Given the description of an element on the screen output the (x, y) to click on. 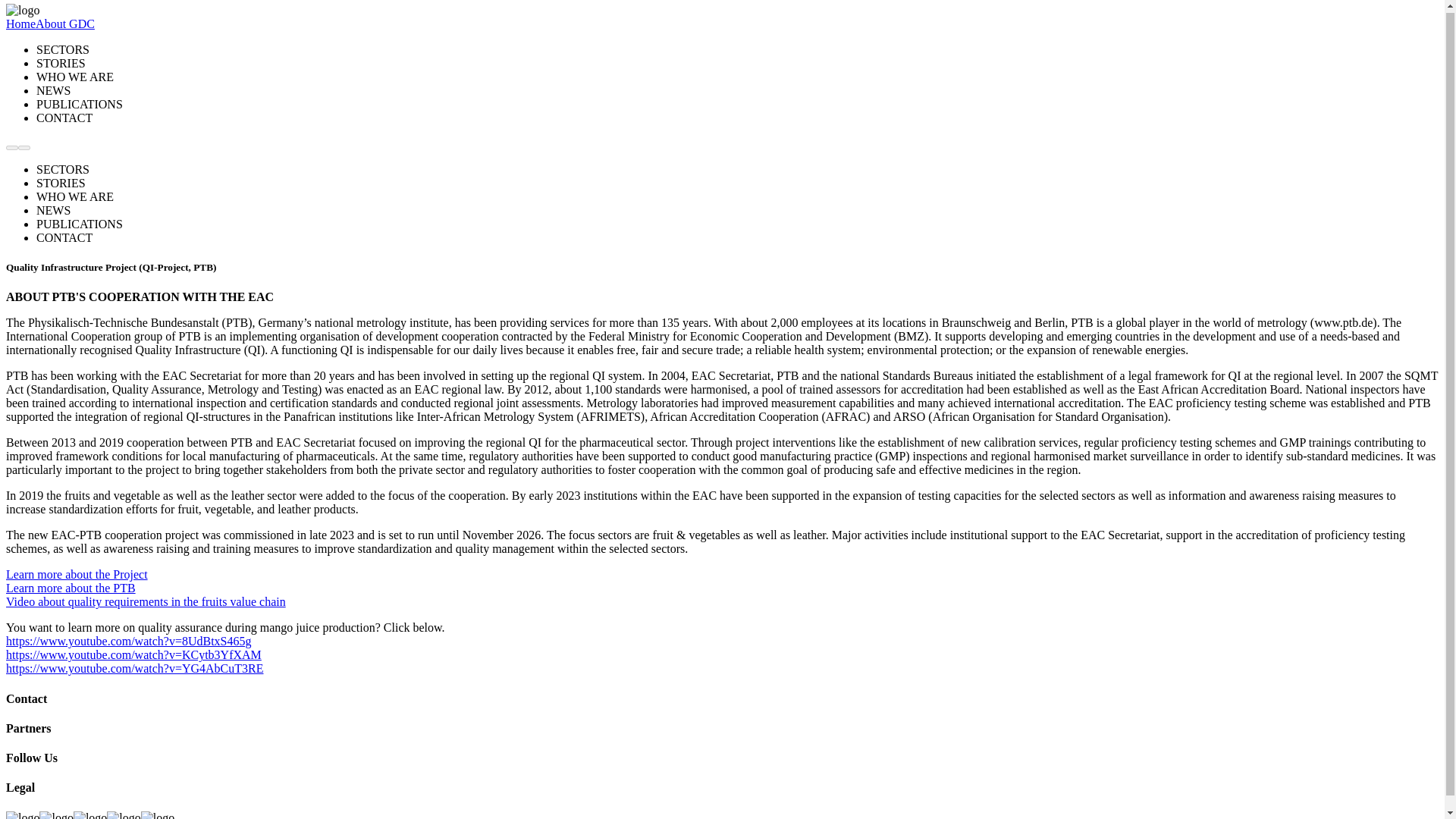
About GDC (64, 23)
Learn more about the PTB (70, 587)
Home (19, 23)
Video about quality requirements in the fruits value chain (145, 601)
Learn more about the Project (76, 574)
